Given the description of an element on the screen output the (x, y) to click on. 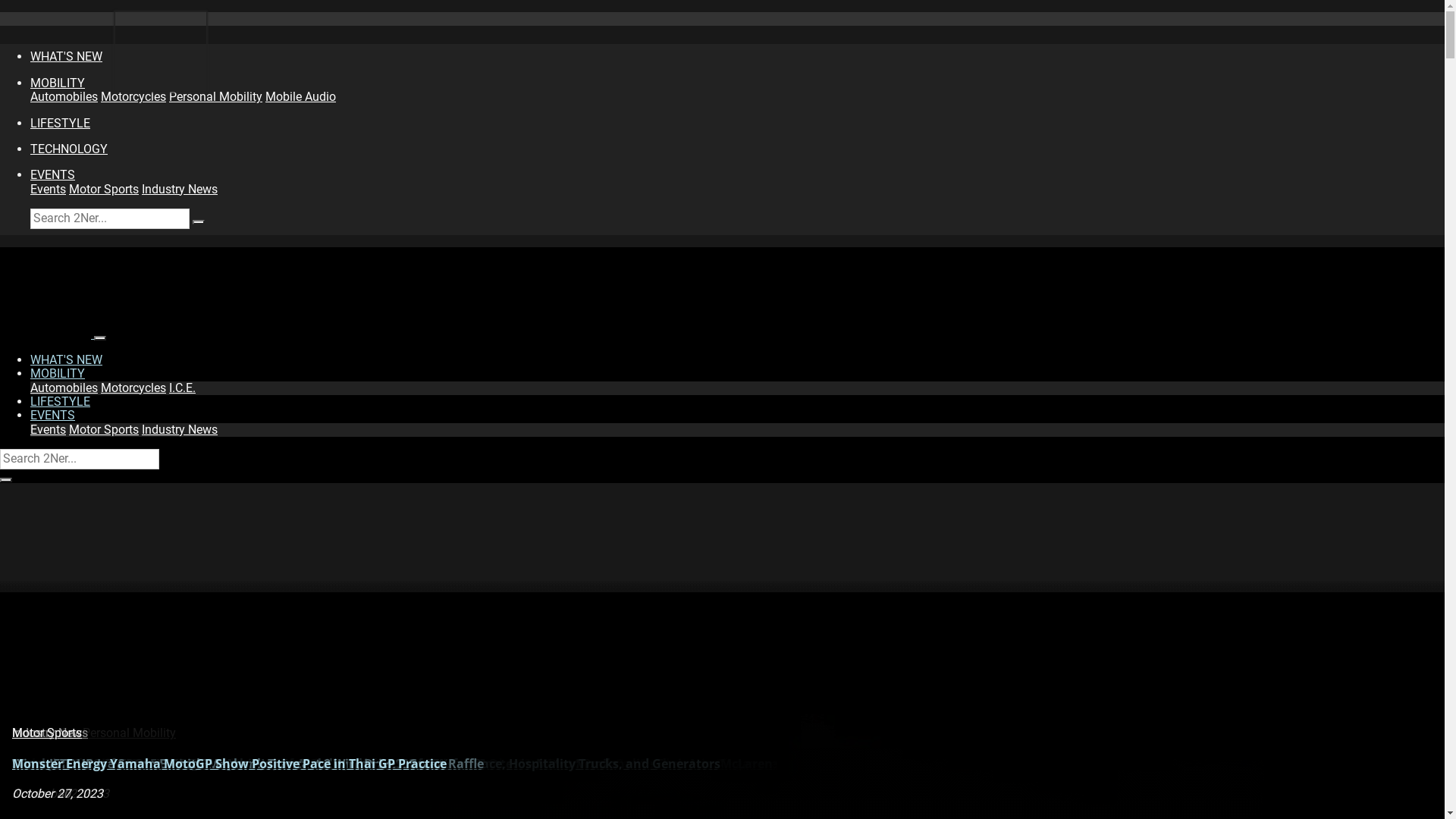
EVENTS Element type: text (52, 174)
I.C.E. Element type: text (182, 387)
Personal Mobility Element type: text (128, 732)
Automobiles Element type: text (63, 387)
TECHNOLOGY Element type: text (68, 148)
Motorcycles Element type: text (133, 387)
Motorcycles Element type: text (133, 96)
MOBILITY Element type: text (57, 82)
Events Element type: text (29, 732)
Personal Mobility Element type: text (215, 96)
Motor Sports Element type: text (103, 189)
WHAT'S NEW Element type: text (66, 56)
LIFESTYLE Element type: text (60, 401)
EVENTS Element type: text (52, 414)
Mobile Audio Element type: text (300, 96)
Industry News Element type: text (49, 732)
WHAT'S NEW Element type: text (66, 359)
Industry News Element type: text (179, 189)
Motorcycles Element type: text (44, 732)
Events Element type: text (47, 429)
MOBILITY Element type: text (57, 373)
LIFESTYLE Element type: text (60, 123)
Events Element type: text (47, 189)
Automobiles Element type: text (45, 732)
Automobiles Element type: text (63, 96)
Industry News Element type: text (179, 429)
Motor Sports Element type: text (103, 429)
Motor Sports Element type: text (46, 732)
